Given the description of an element on the screen output the (x, y) to click on. 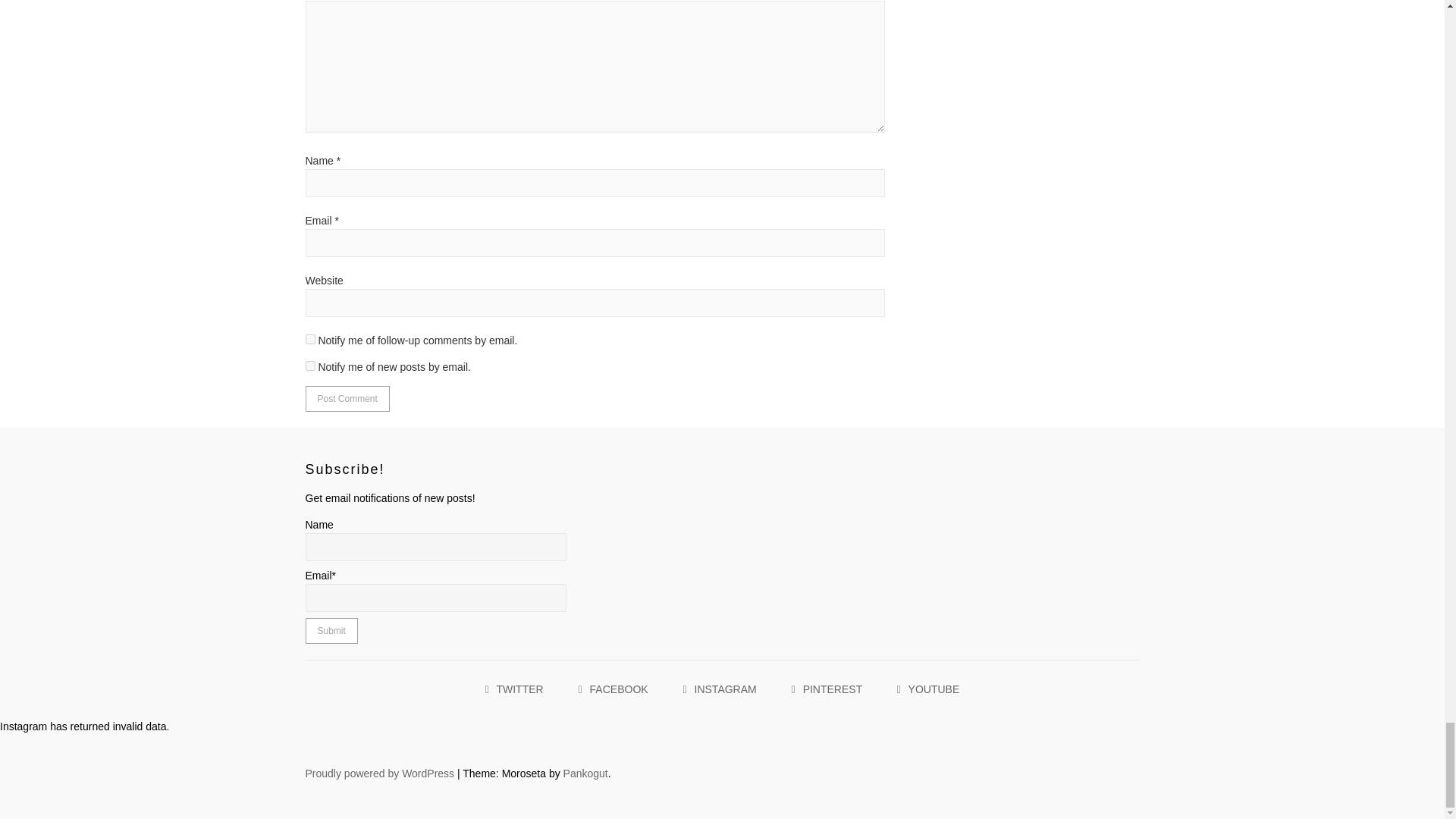
Submit (330, 630)
subscribe (309, 338)
Post Comment (346, 398)
subscribe (309, 366)
